Given the description of an element on the screen output the (x, y) to click on. 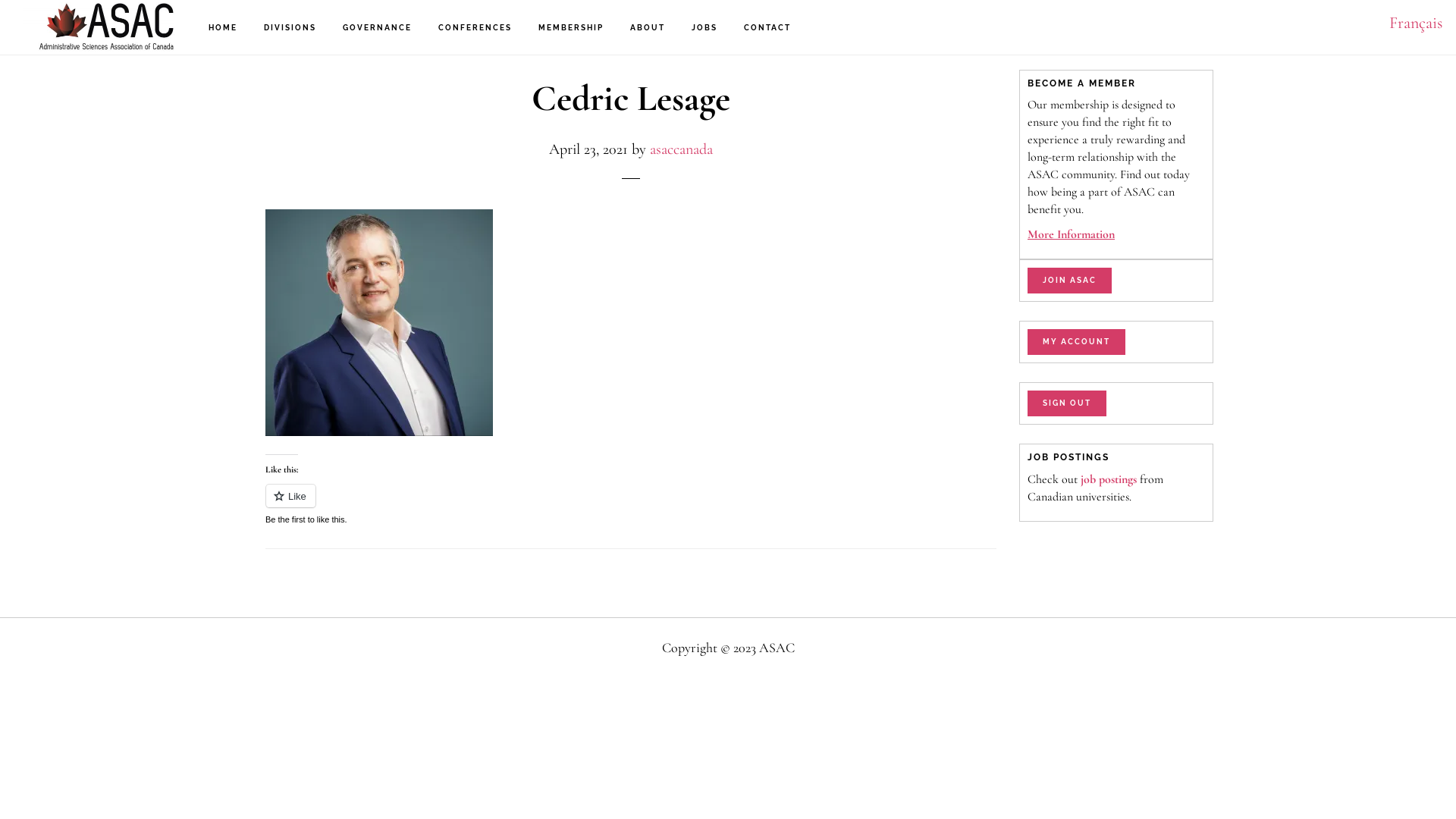
Like or Reblog Element type: hover (630, 504)
CONFERENCES Element type: text (474, 27)
SIGN OUT Element type: text (1066, 403)
job postings Element type: text (1108, 478)
GOVERNANCE Element type: text (377, 27)
asaccanada Element type: text (680, 149)
JOBS Element type: text (704, 27)
CONTACT Element type: text (767, 27)
Skip to main content Element type: text (0, 0)
More Information Element type: text (1115, 234)
DIVISIONS Element type: text (289, 27)
JOIN ASAC Element type: text (1069, 280)
MY ACCOUNT Element type: text (1076, 341)
MEMBERSHIP Element type: text (571, 27)
HOME Element type: text (222, 27)
ASAC Element type: text (98, 26)
ABOUT Element type: text (647, 27)
